Given the description of an element on the screen output the (x, y) to click on. 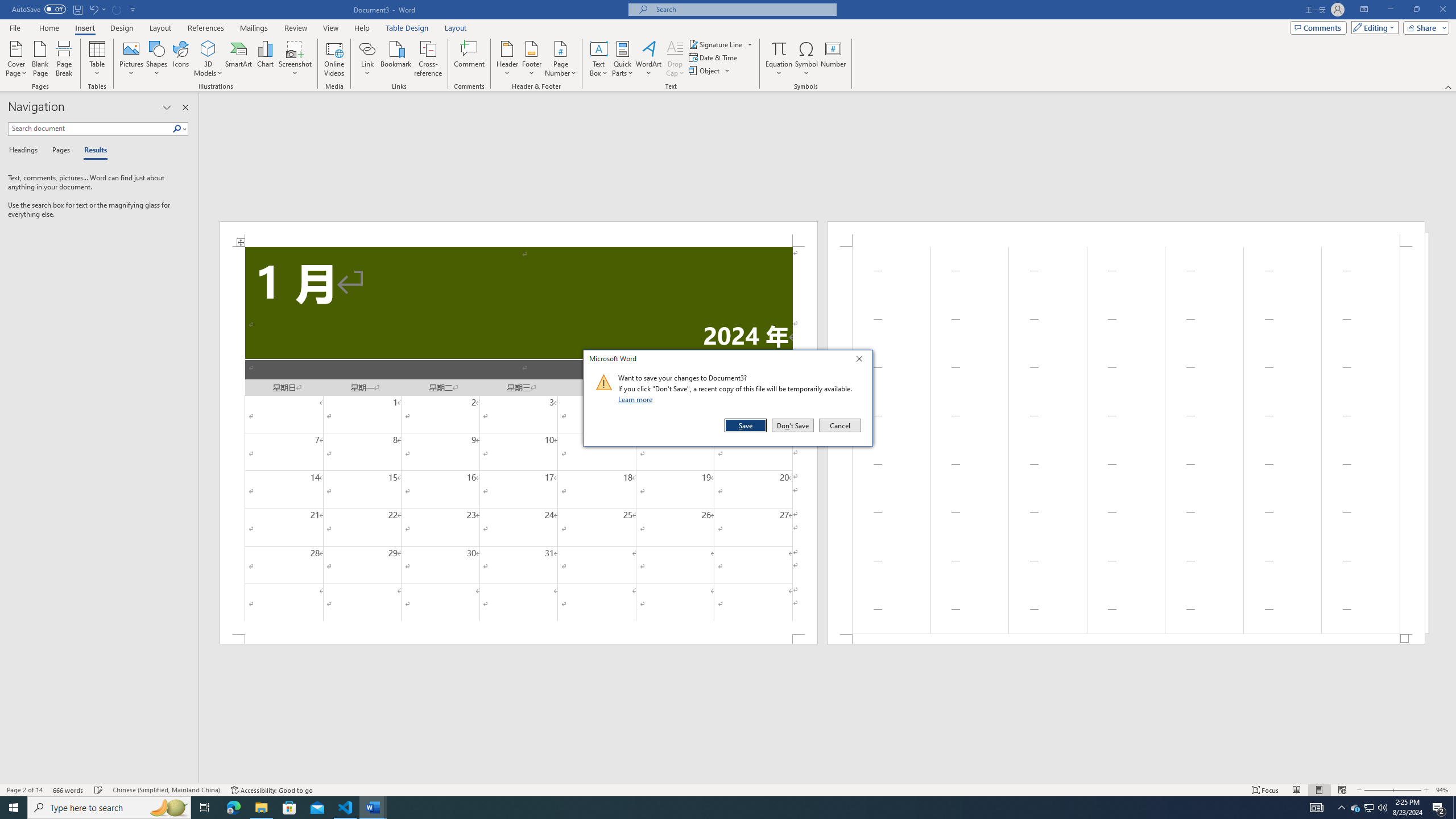
Footer (531, 58)
Object... (705, 69)
Equation (778, 48)
Comment (469, 58)
Cross-reference... (428, 58)
